Given the description of an element on the screen output the (x, y) to click on. 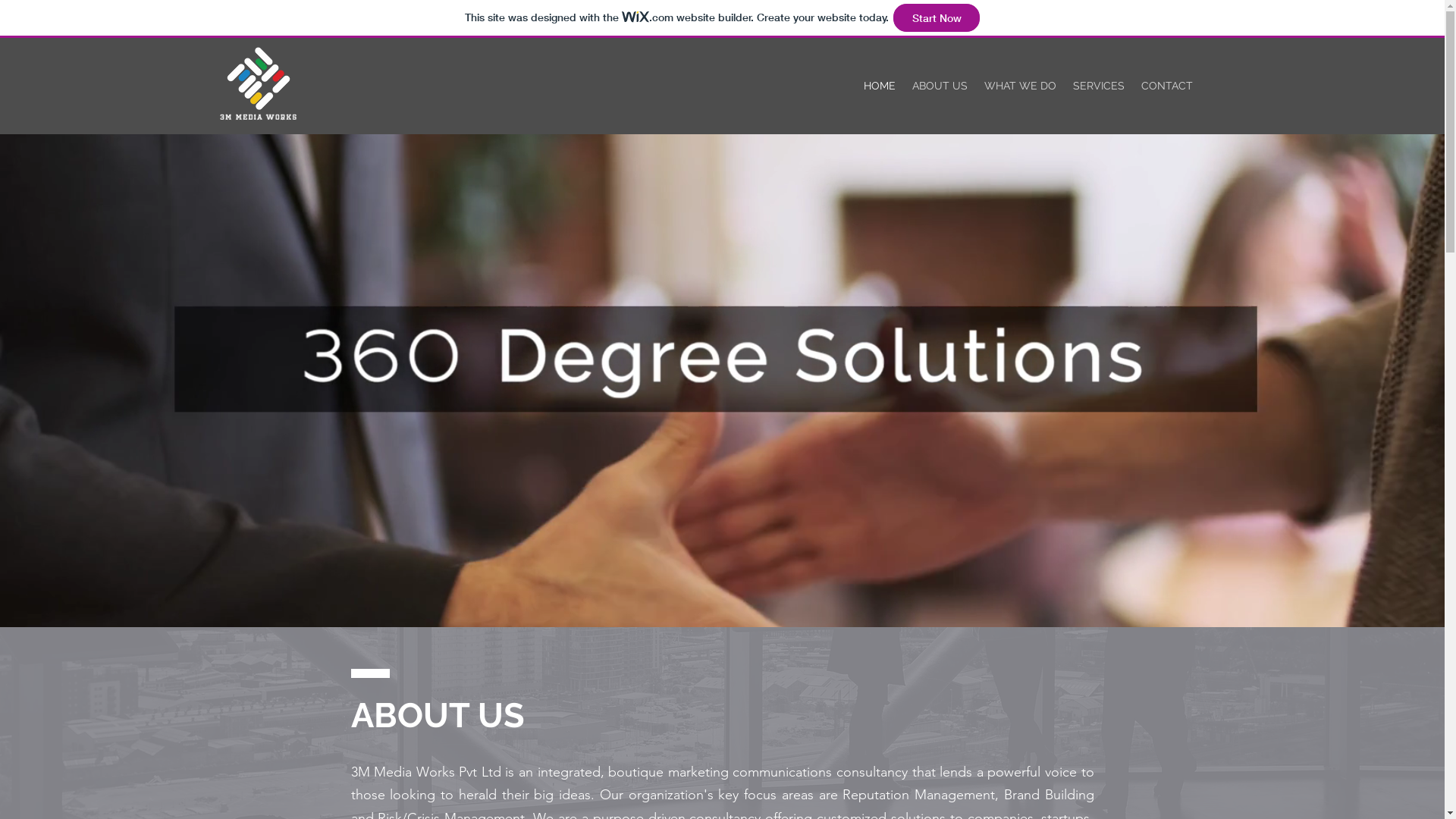
CONTACT Element type: text (1166, 85)
ABOUT US Element type: text (939, 85)
WHAT WE DO Element type: text (1019, 85)
SERVICES Element type: text (1098, 85)
HOME Element type: text (879, 85)
